Given the description of an element on the screen output the (x, y) to click on. 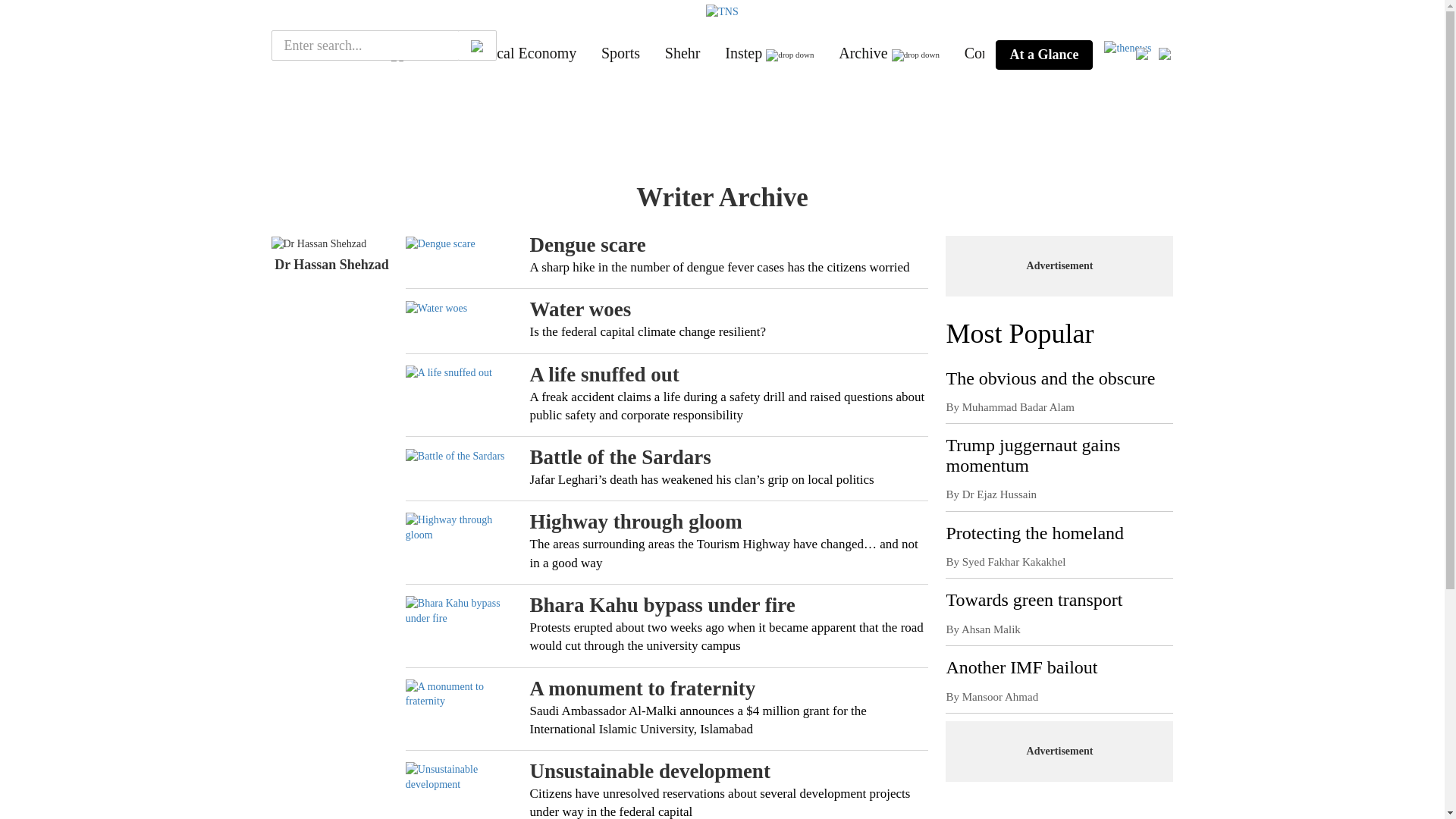
Shehr (682, 53)
Home (300, 53)
Political-Economy (520, 53)
Archive (862, 53)
Instep (743, 53)
Shehr (682, 53)
TNS (300, 53)
Archive (862, 53)
Encore (365, 53)
Political Economy (520, 53)
At a Glance (1043, 55)
Sports (620, 53)
Encore (365, 53)
Contributors (1002, 53)
Instep (743, 53)
